Given the description of an element on the screen output the (x, y) to click on. 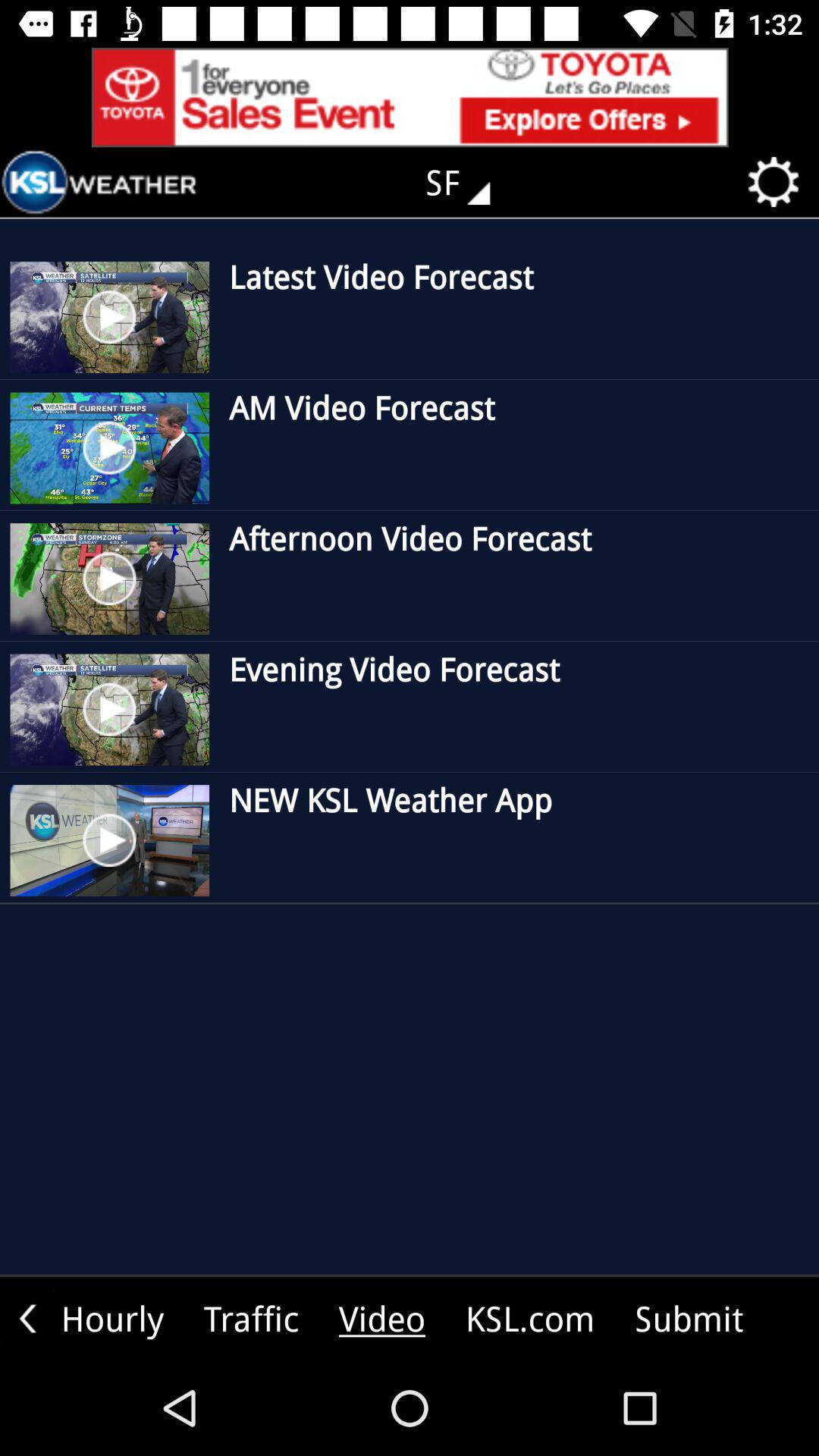
go back (27, 1318)
